Given the description of an element on the screen output the (x, y) to click on. 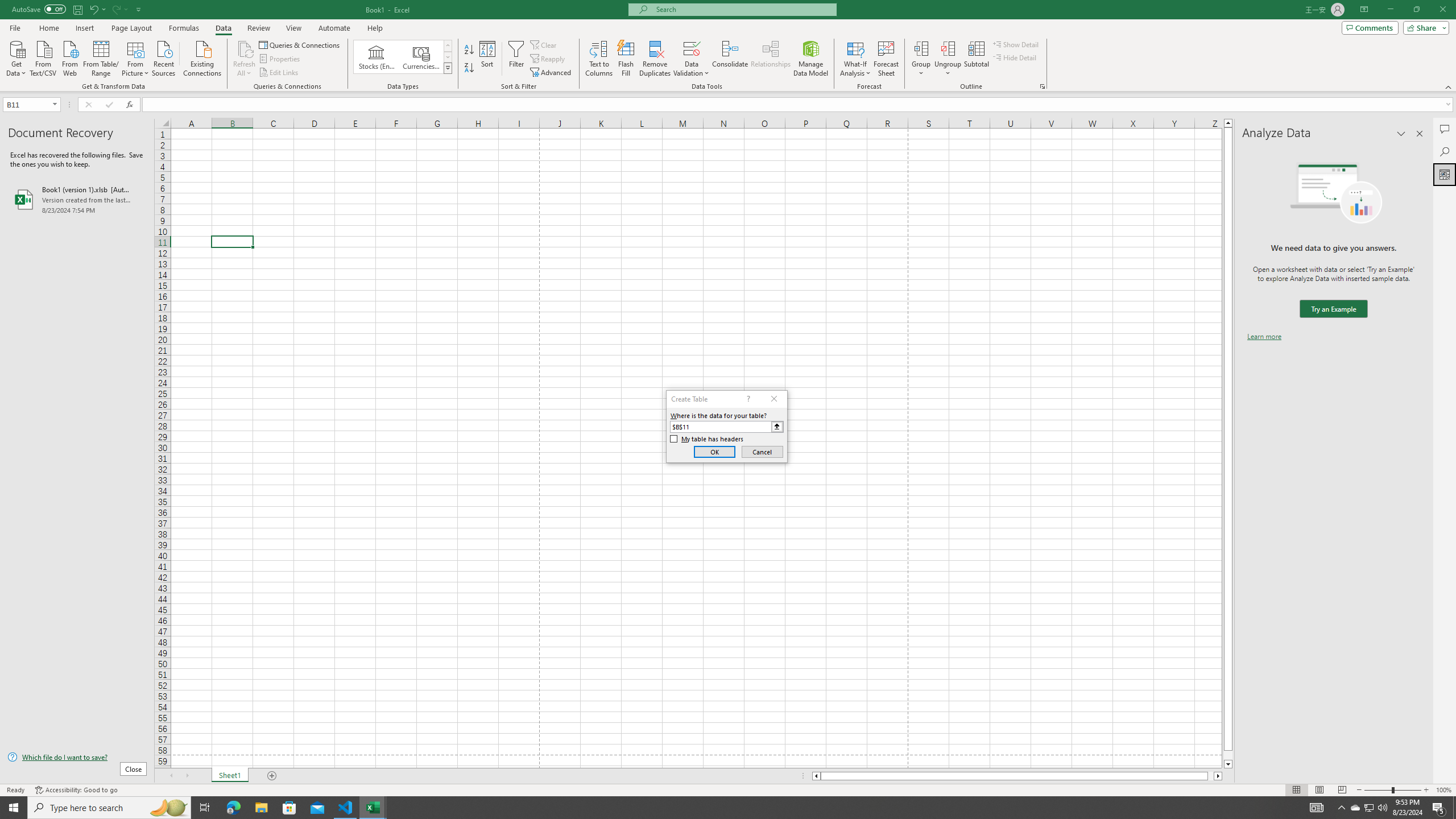
Relationships (770, 58)
Class: NetUIImage (447, 68)
